Given the description of an element on the screen output the (x, y) to click on. 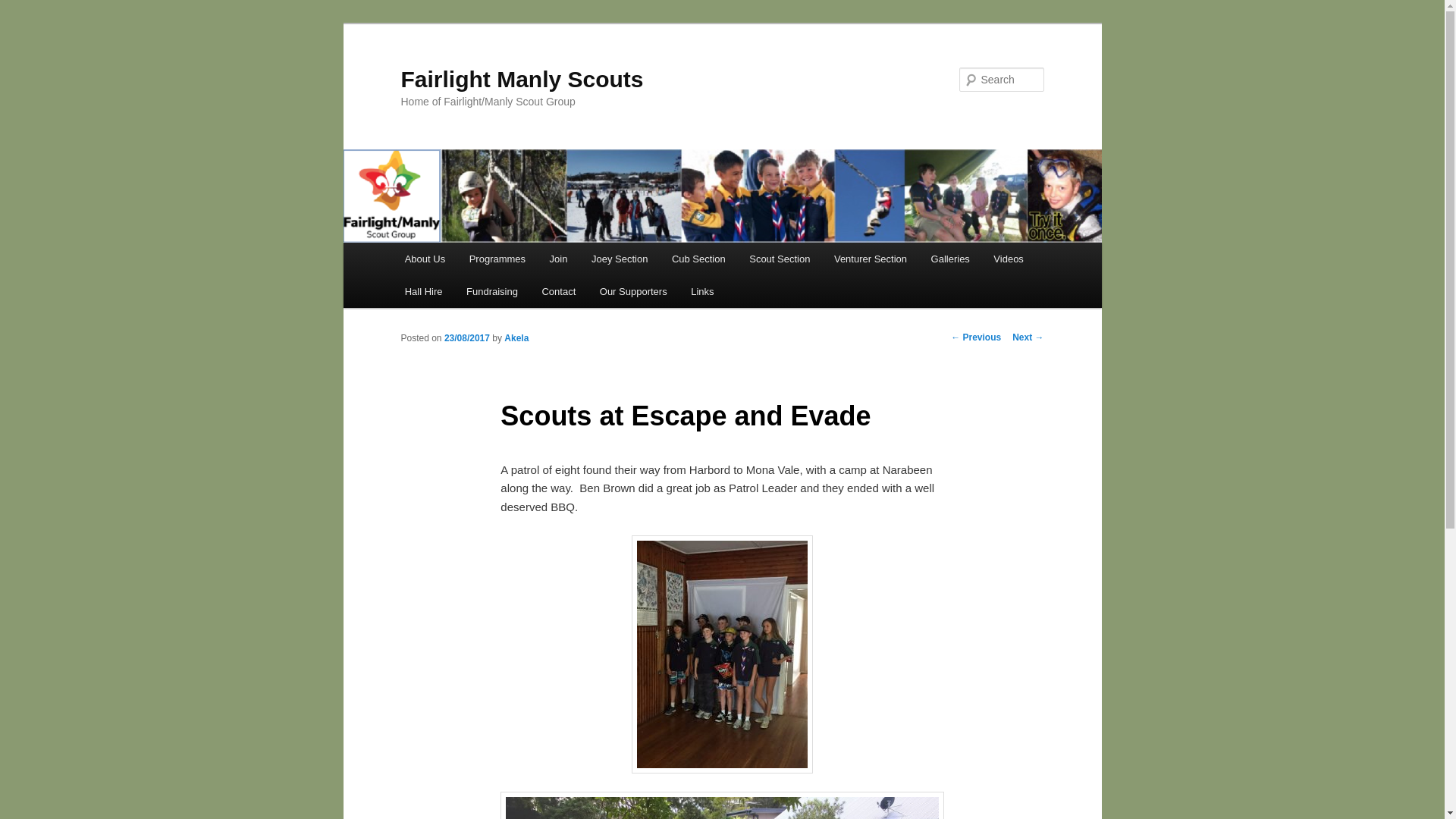
Links Element type: text (701, 291)
Hall Hire Element type: text (423, 291)
Programmes Element type: text (497, 258)
Skip to primary content Element type: text (22, 22)
Our Supporters Element type: text (632, 291)
Fundraising Element type: text (491, 291)
About Us Element type: text (424, 258)
Cub Section Element type: text (698, 258)
Fairlight Manly Scouts Element type: text (521, 78)
23/08/2017 Element type: text (466, 337)
Videos Element type: text (1008, 258)
Contact Element type: text (558, 291)
Joey Section Element type: text (619, 258)
Venturer Section Element type: text (870, 258)
Search Element type: text (24, 8)
Scout Section Element type: text (779, 258)
Akela Element type: text (516, 337)
Galleries Element type: text (950, 258)
Join Element type: text (558, 258)
